Given the description of an element on the screen output the (x, y) to click on. 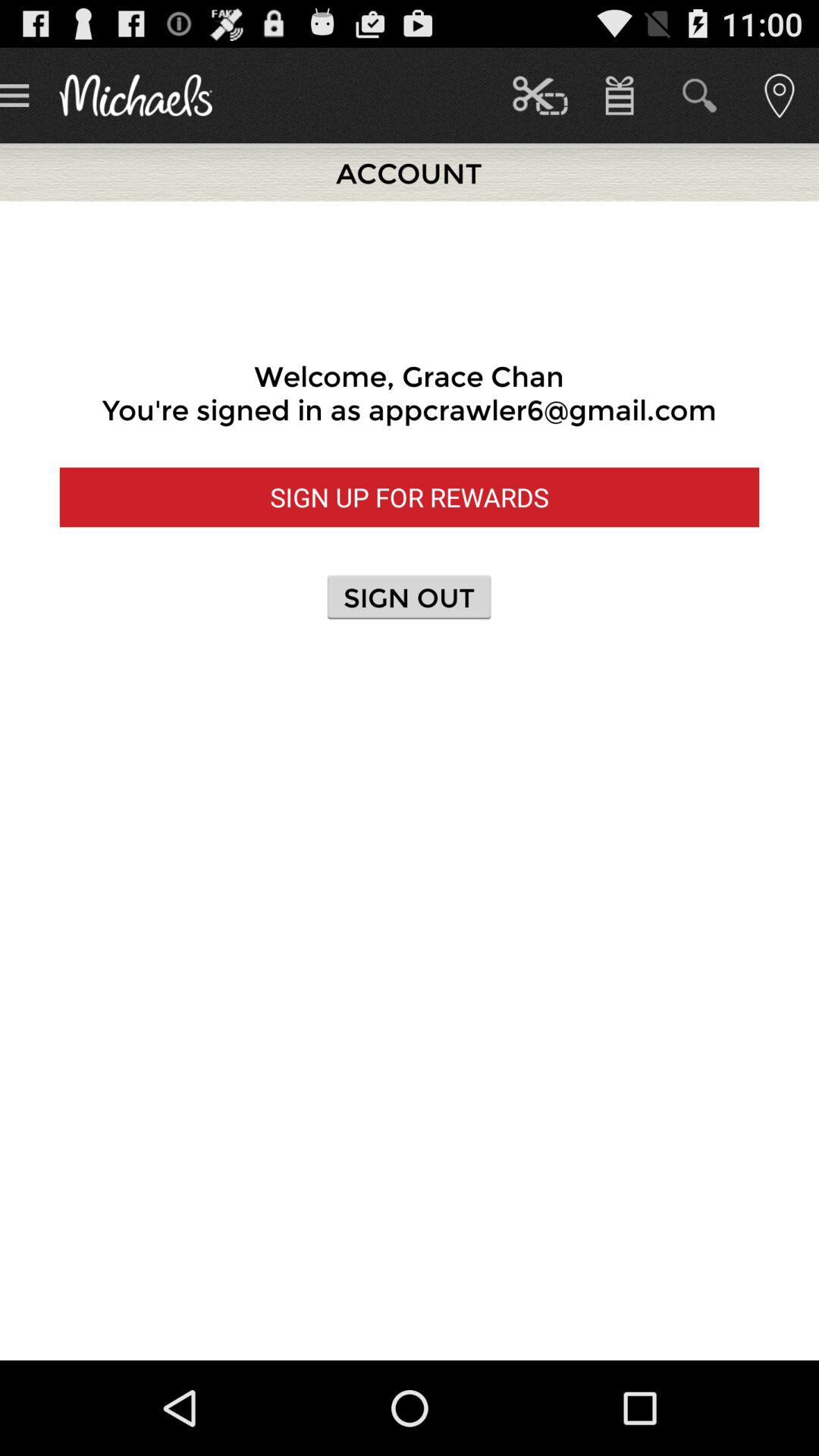
choose sign out icon (408, 596)
